Given the description of an element on the screen output the (x, y) to click on. 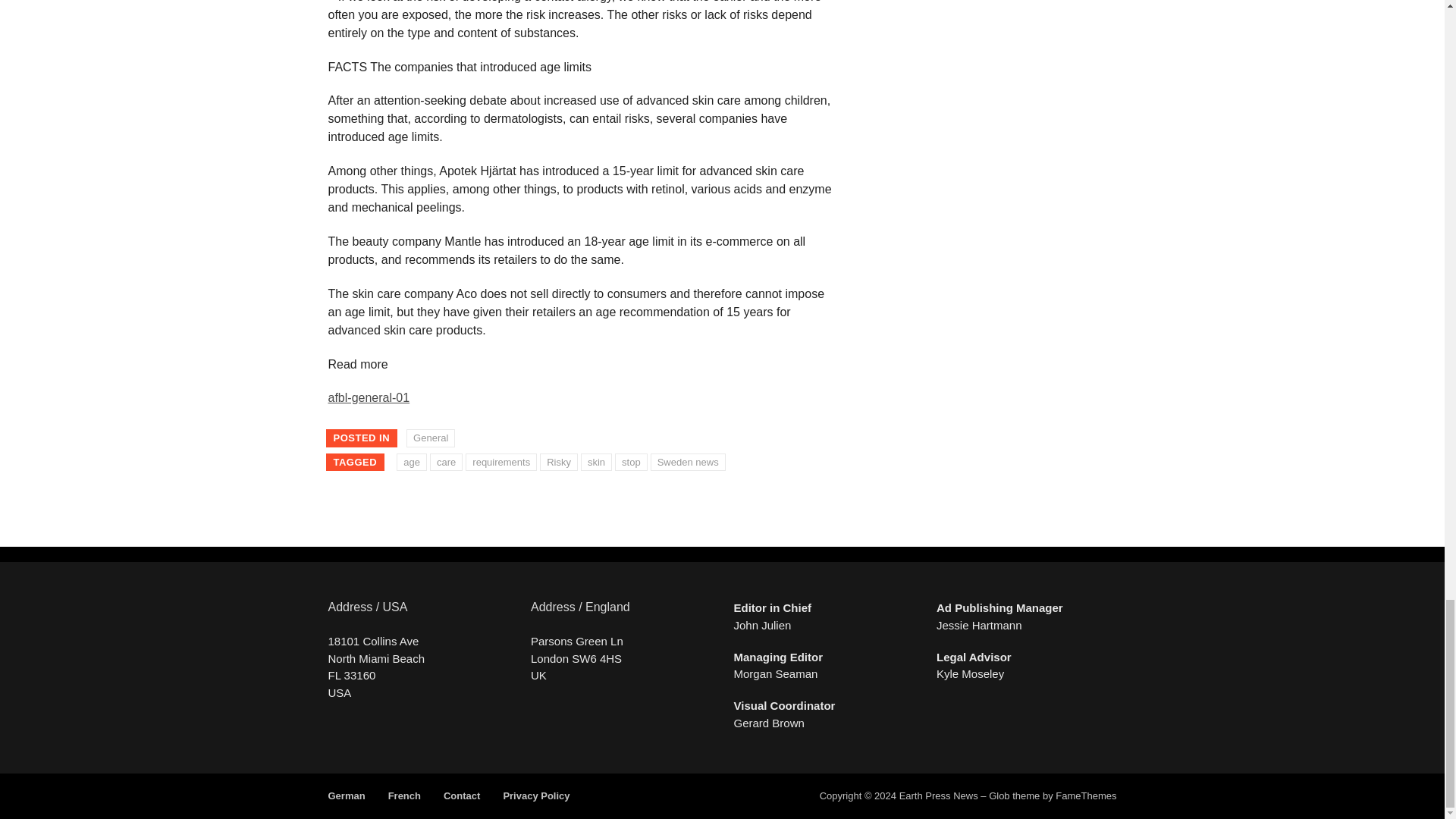
care (446, 462)
age (411, 462)
Risky (559, 462)
requirements (501, 462)
General (430, 438)
skin (595, 462)
Sweden news (687, 462)
stop (630, 462)
afbl-general-01 (368, 397)
